Given the description of an element on the screen output the (x, y) to click on. 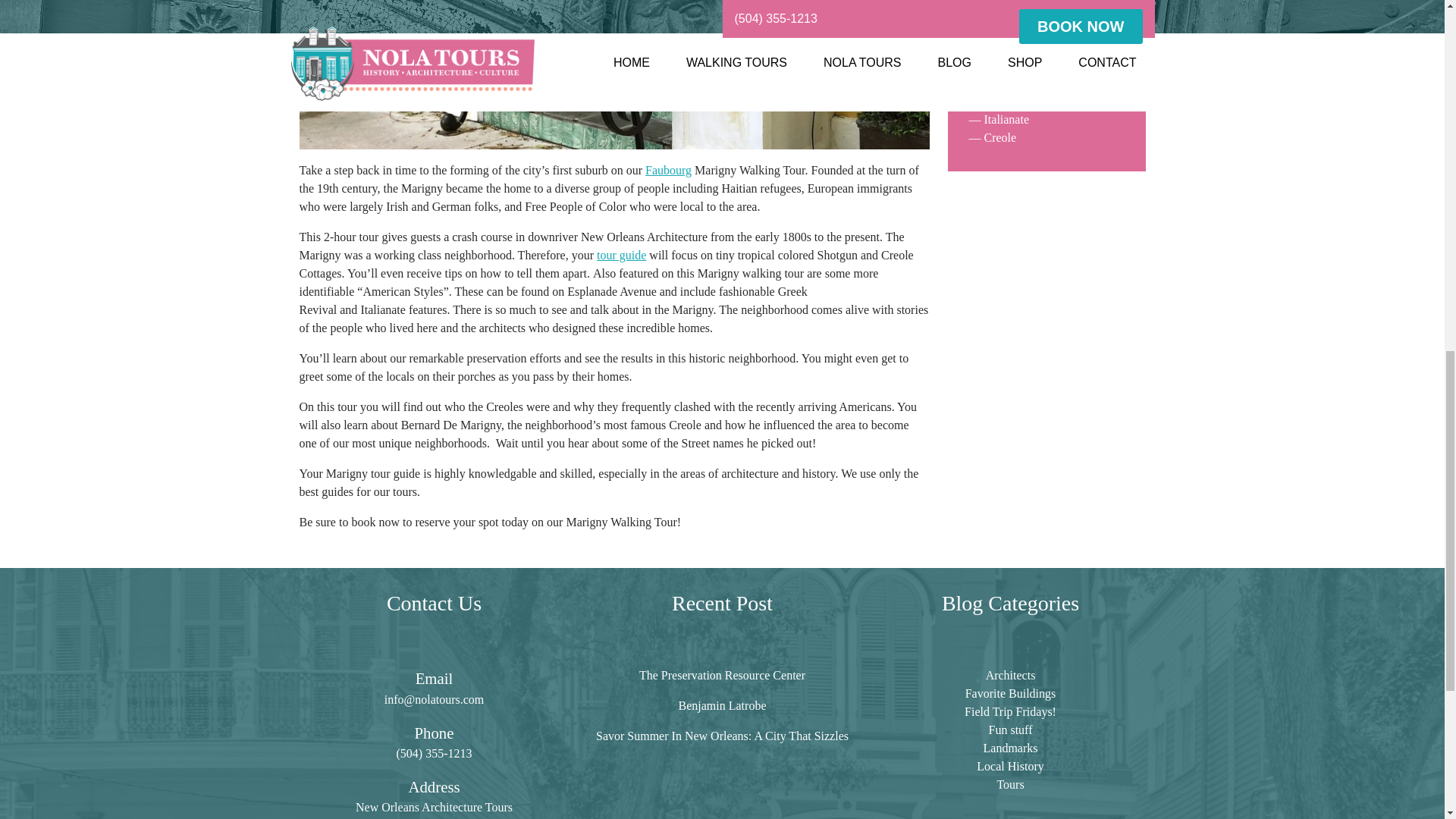
FareHarbor (1342, 64)
